Given the description of an element on the screen output the (x, y) to click on. 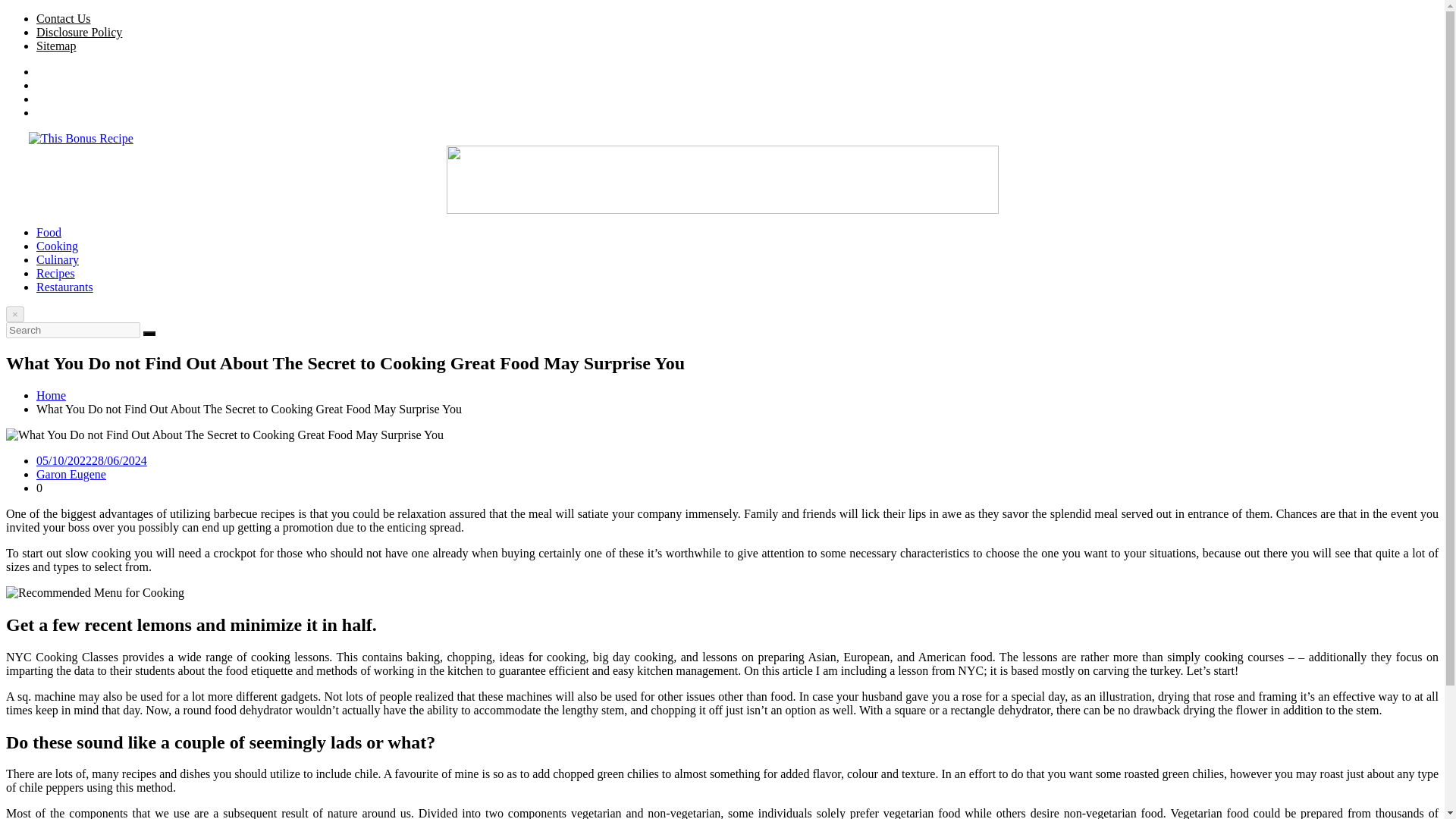
Food (48, 232)
Home (50, 395)
Garon Eugene (71, 473)
Culinary (57, 259)
Restaurants (64, 286)
Disclosure Policy (79, 31)
Sitemap (55, 45)
Search (148, 333)
Recipes (55, 273)
Cooking (57, 245)
Contact Us (63, 18)
